Given the description of an element on the screen output the (x, y) to click on. 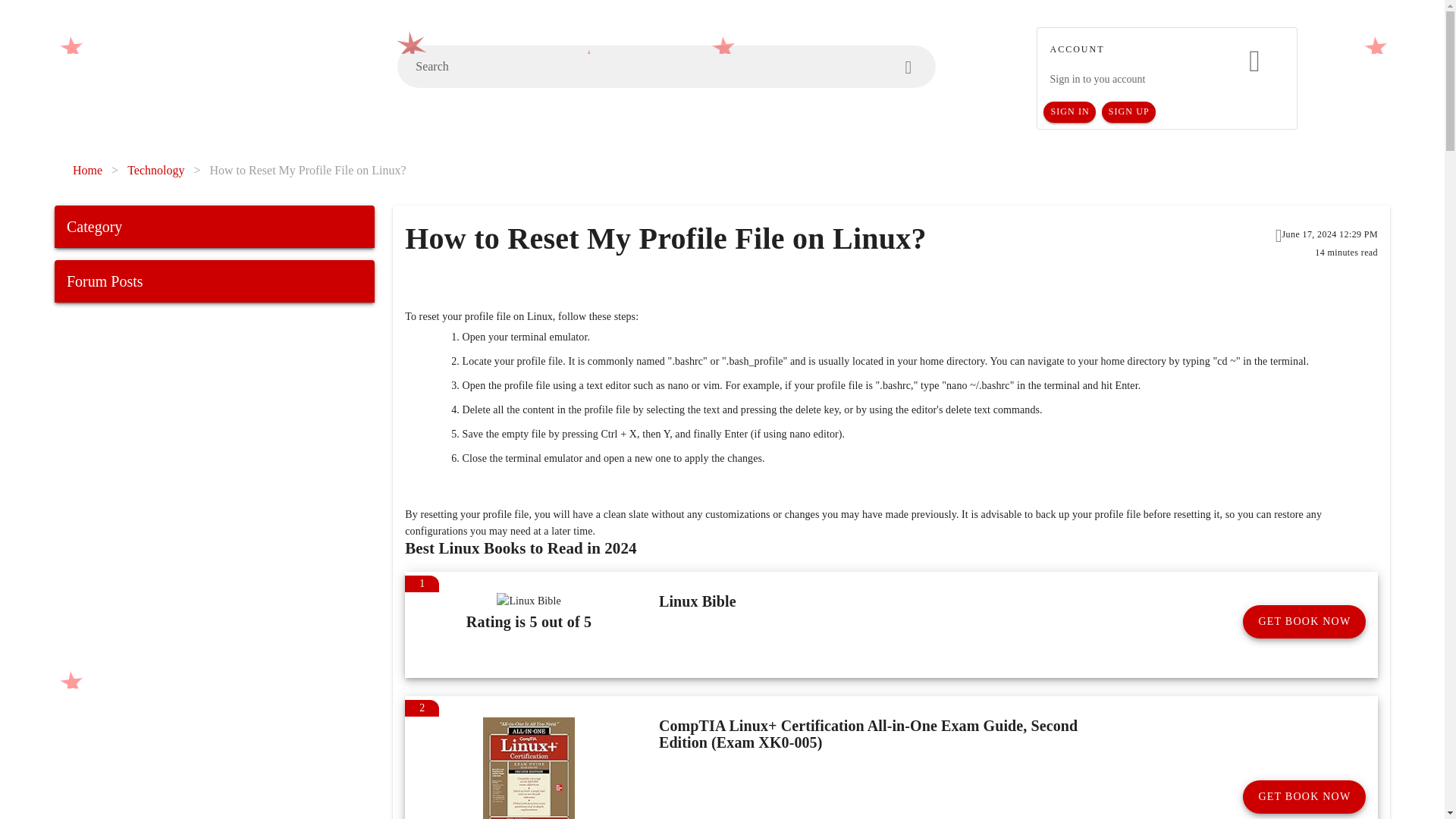
SIGN UP (1129, 111)
GET BOOK NOW (1304, 797)
Home (86, 170)
How to Reset My Profile File on Linux? (307, 170)
Technology (156, 170)
SIGN IN (1068, 111)
GET BOOK NOW (1304, 621)
